Given the description of an element on the screen output the (x, y) to click on. 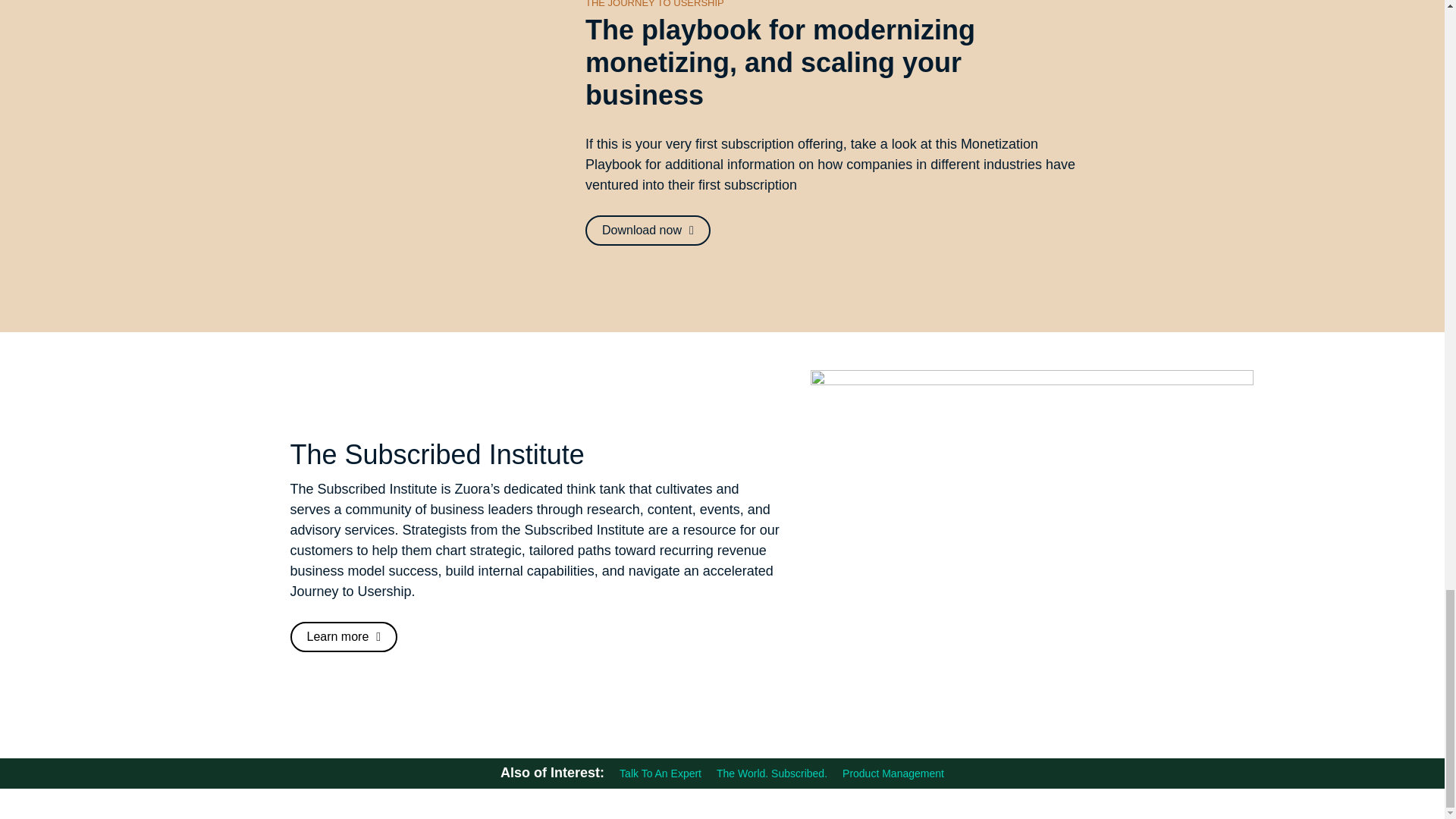
Download now (647, 230)
Talk To An Expert (660, 773)
Product Management (893, 773)
The World. Subscribed. (771, 773)
Learn more (343, 636)
